Given the description of an element on the screen output the (x, y) to click on. 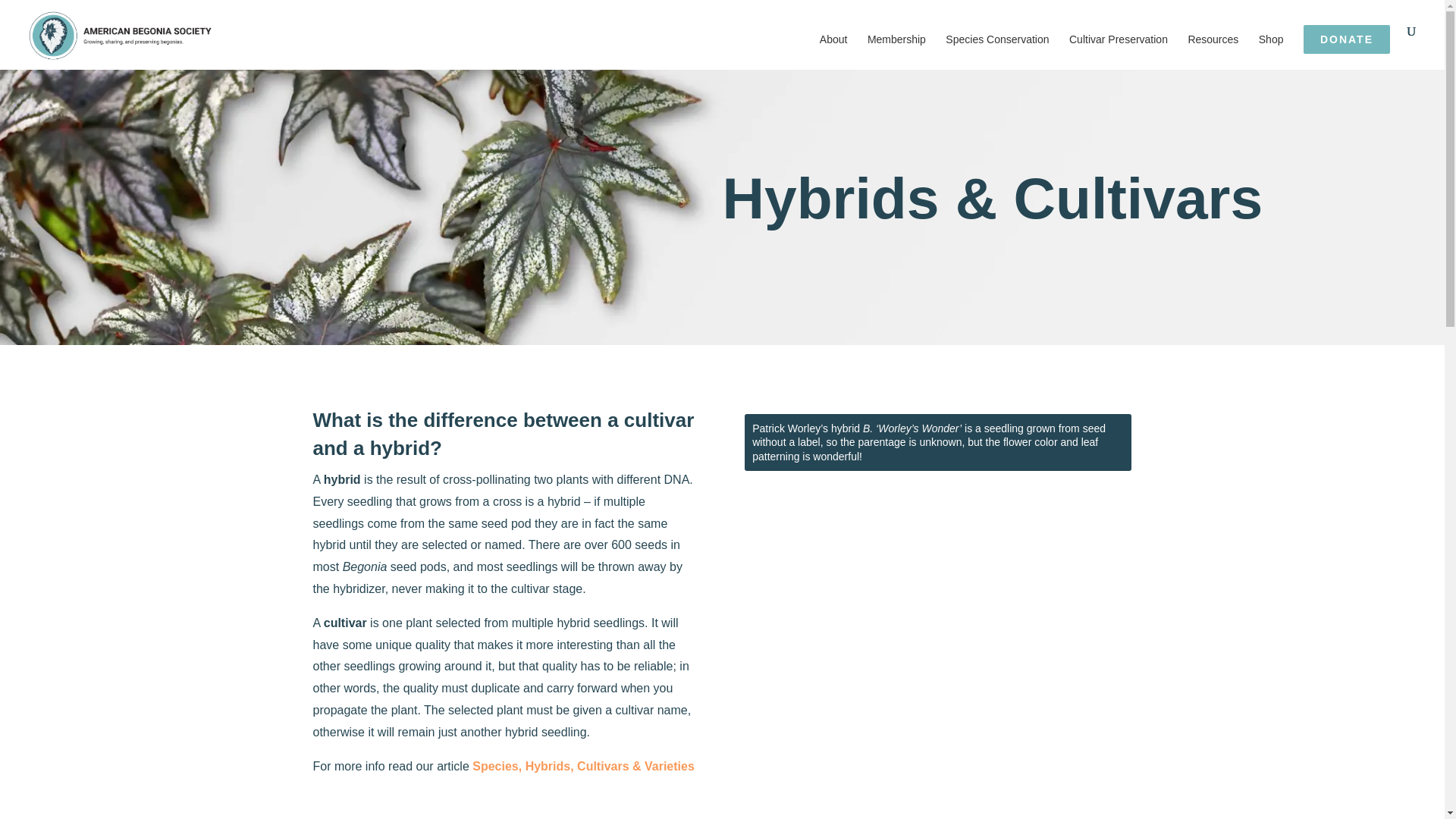
DONATE (1346, 39)
Resources (1213, 51)
Species Conservation (996, 51)
Cultivar Preservation (1117, 51)
Membership (896, 51)
